Given the description of an element on the screen output the (x, y) to click on. 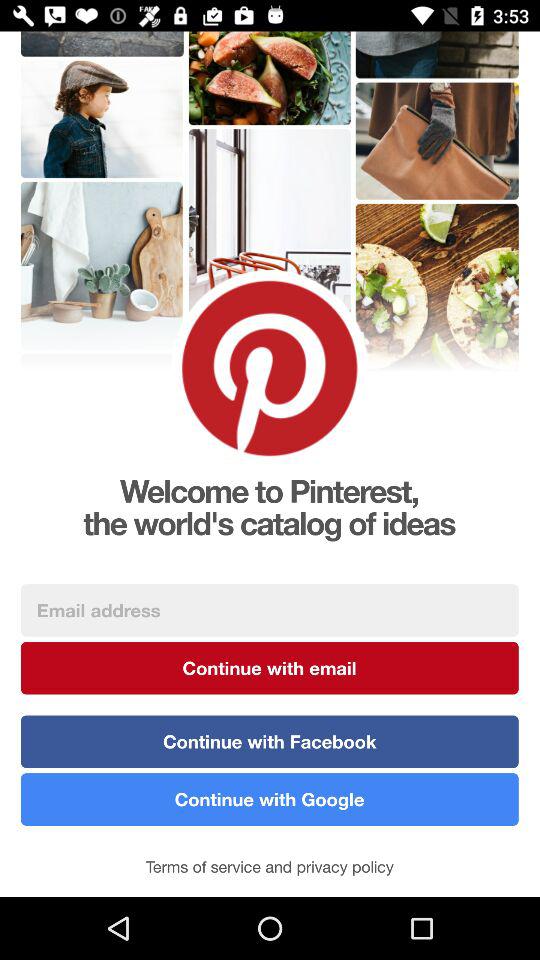
e-mail textbox (269, 610)
